Given the description of an element on the screen output the (x, y) to click on. 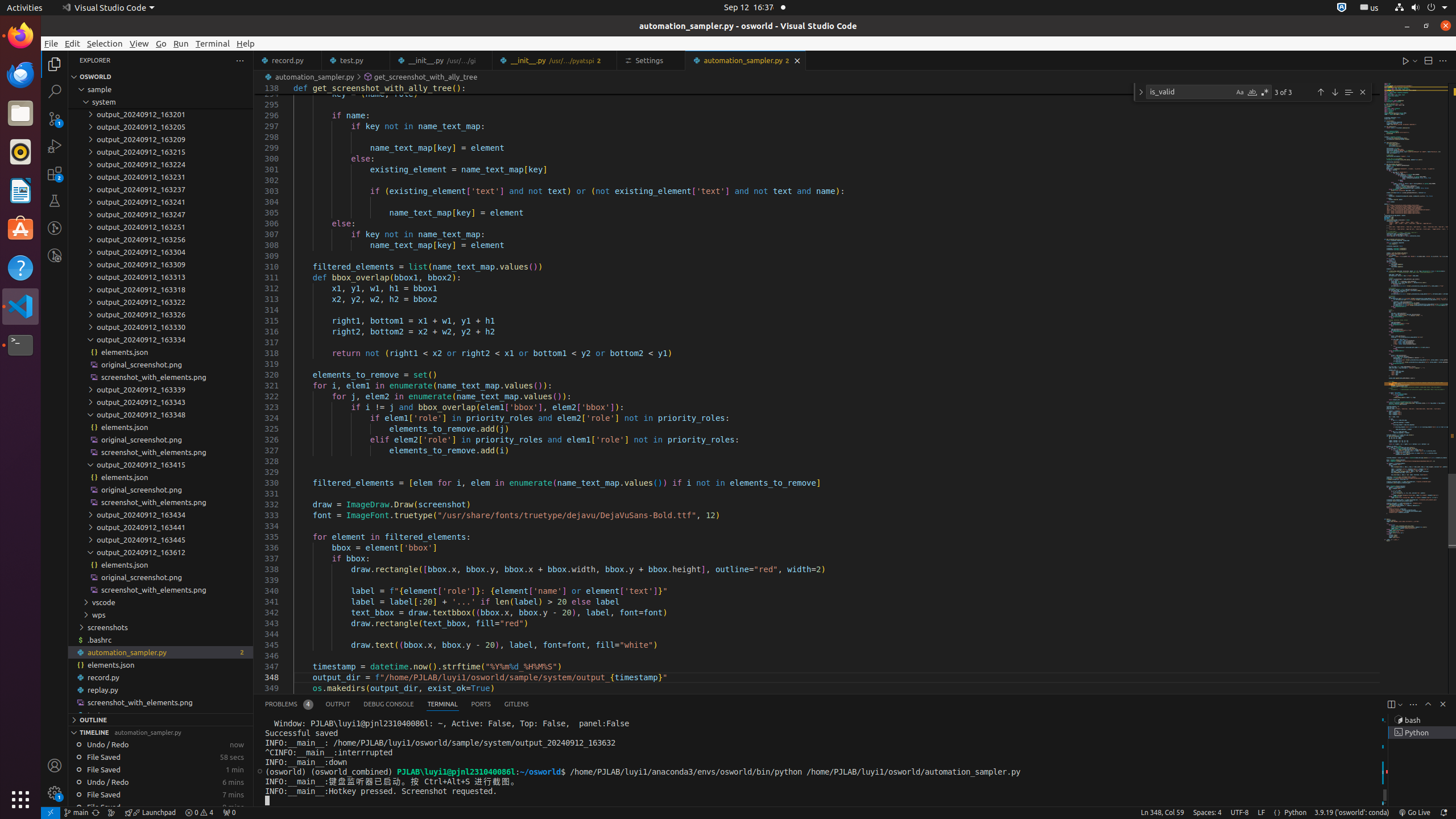
def get_screenshot_with_ally_tree(): Element type: list-item (836, 88)
Maximize Panel Size Element type: check-box (1427, 703)
Spaces: 4 Element type: push-button (1206, 812)
original_screenshot.png Element type: tree-item (160, 577)
automation_sampler.py Element type: tree-item (160, 652)
